Given the description of an element on the screen output the (x, y) to click on. 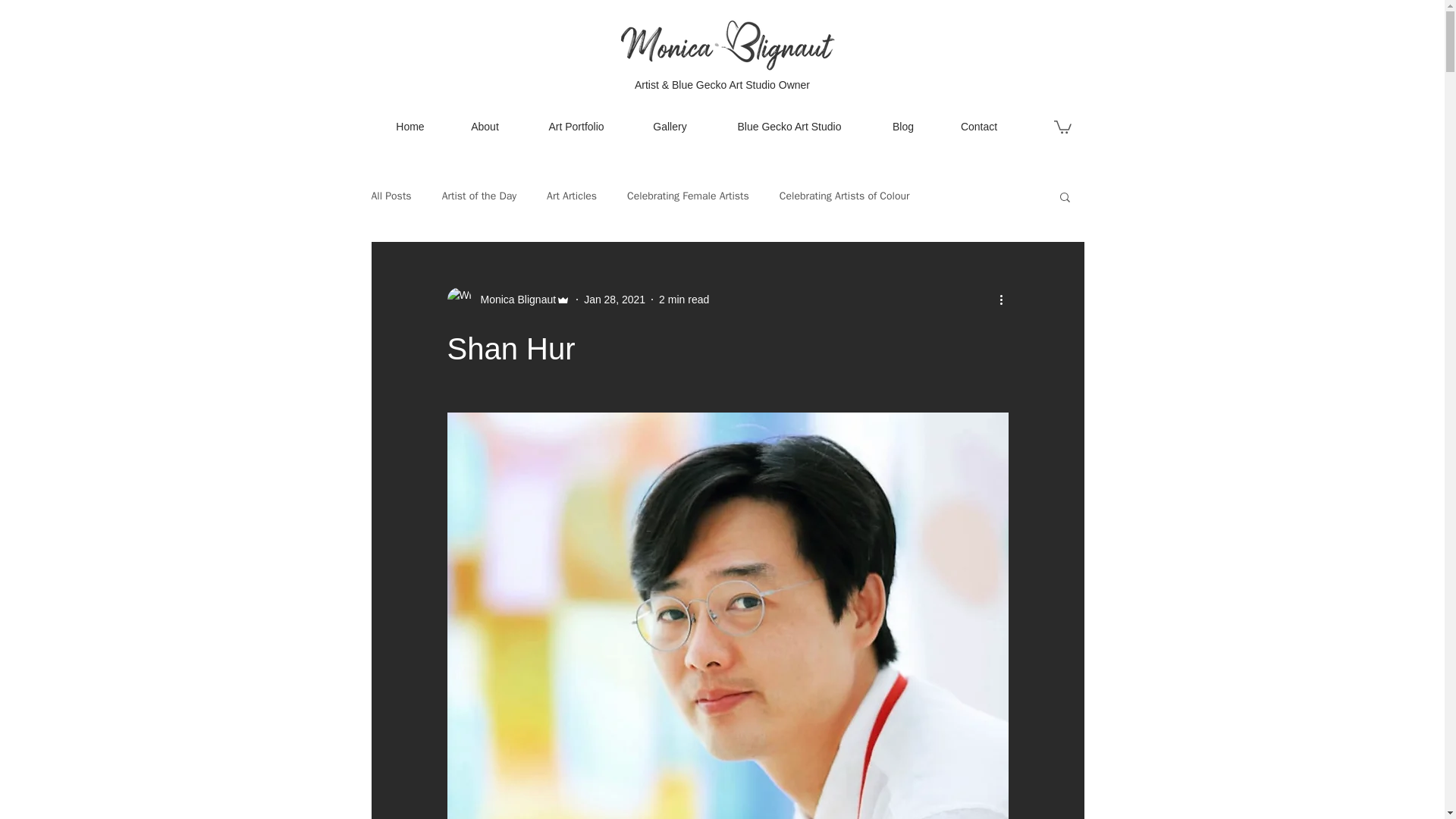
Celebrating Artists of Colour (844, 196)
Jan 28, 2021 (614, 299)
Art Portfolio (575, 126)
Gallery (670, 126)
Monica Blignaut (513, 299)
2 min read (684, 299)
Home (410, 126)
About (483, 126)
Celebrating Female Artists (688, 196)
Monica Blignaut (508, 299)
